Given the description of an element on the screen output the (x, y) to click on. 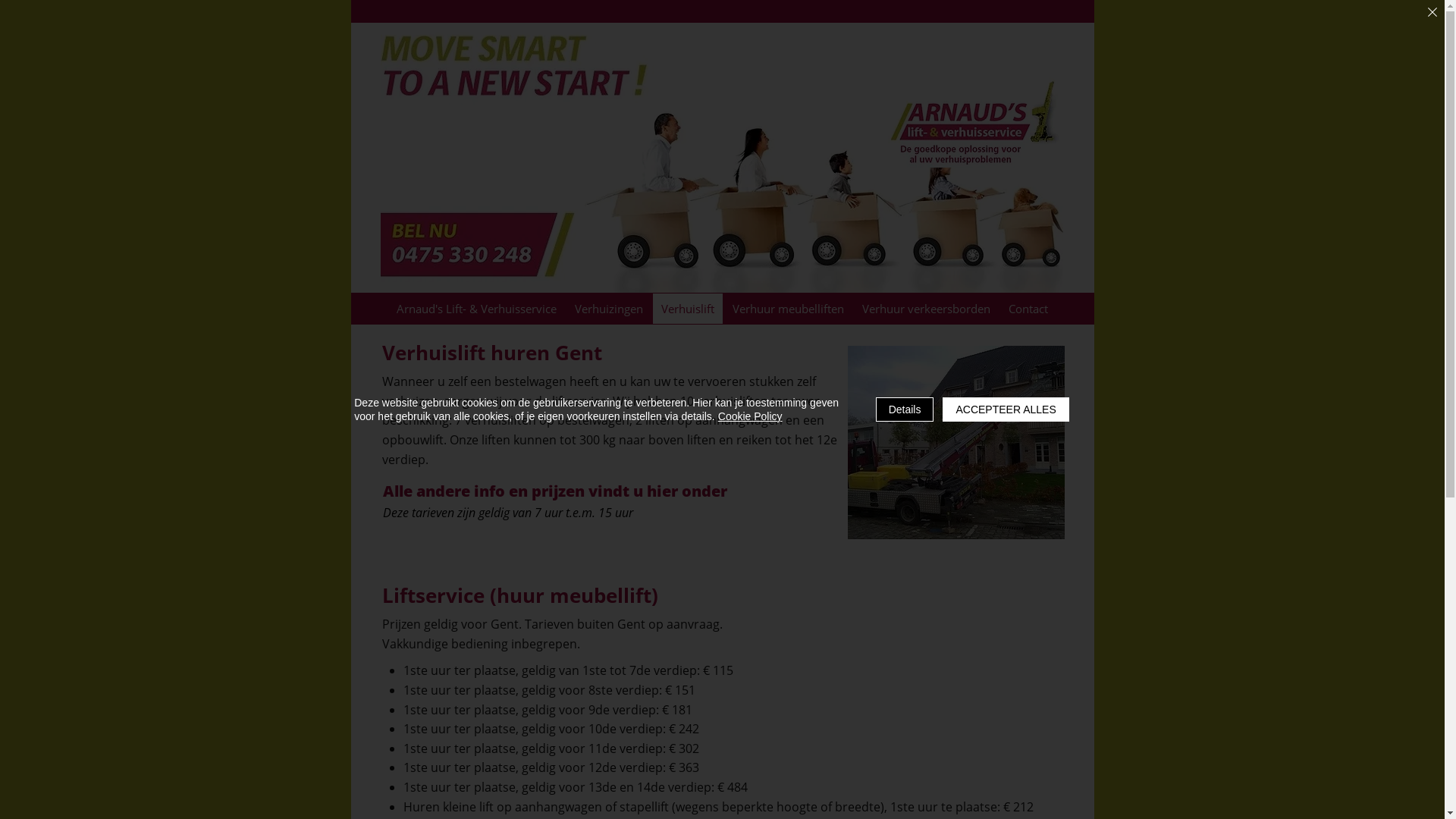
Verhuislift Element type: text (687, 308)
Verhuizingen Element type: text (608, 308)
Contact Element type: text (1028, 308)
Verhuur verkeersborden Element type: text (925, 308)
Arnaud's Lift- & Verhuisservice Element type: text (476, 308)
Cookie Policy Element type: text (750, 416)
Verhuur meubelliften Element type: text (788, 308)
Details Element type: text (904, 409)
ACCEPTEER ALLES Element type: text (1005, 409)
